Given the description of an element on the screen output the (x, y) to click on. 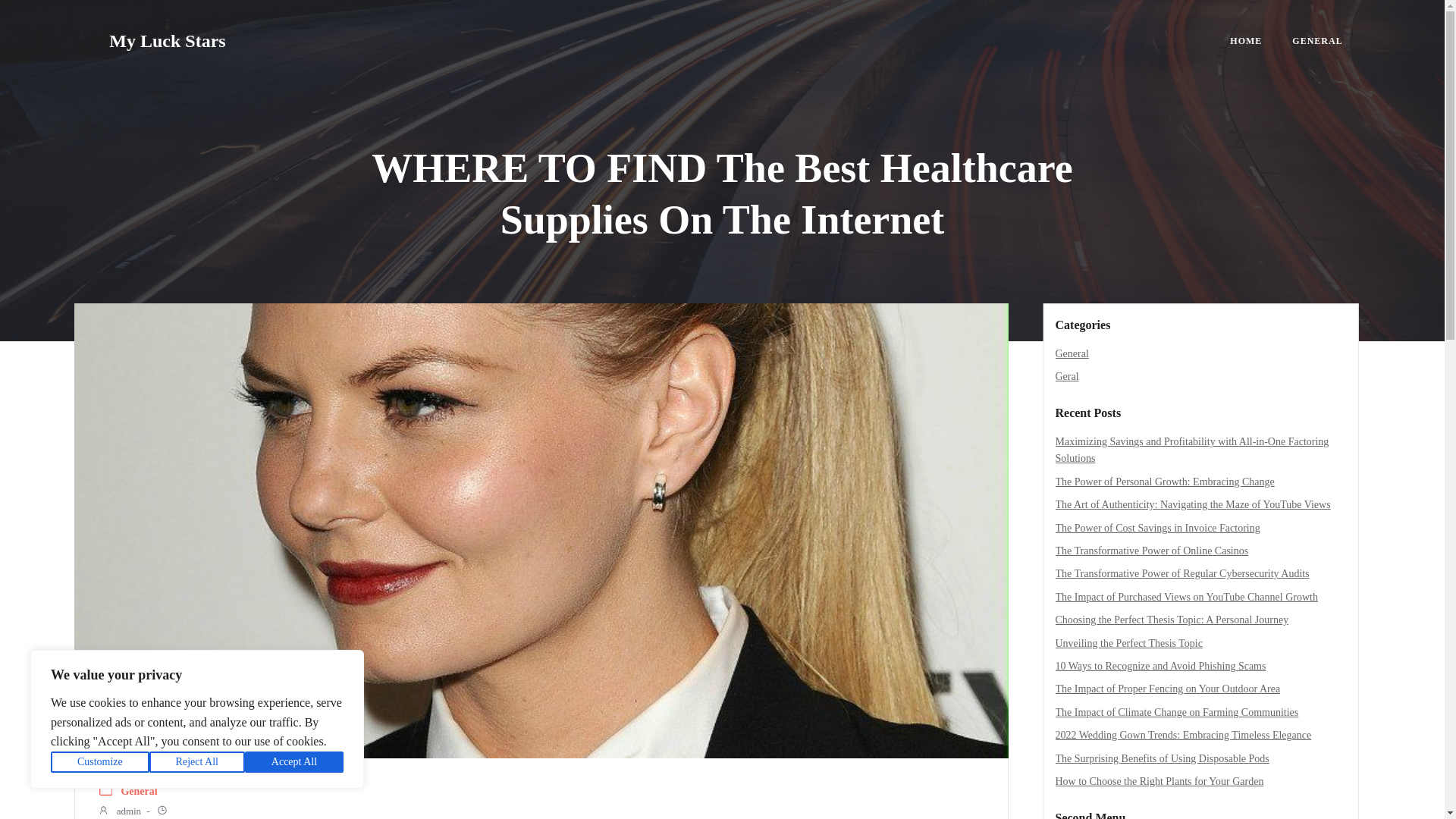
The Power of Cost Savings in Invoice Factoring (1157, 527)
General (138, 791)
GENERAL (1317, 40)
HOME (1246, 40)
My Luck Stars (167, 40)
The Power of Personal Growth: Embracing Change (1165, 481)
Geral (1066, 376)
Accept All (293, 762)
Customize (99, 762)
admin (119, 811)
Reject All (196, 762)
General (1072, 353)
